Given the description of an element on the screen output the (x, y) to click on. 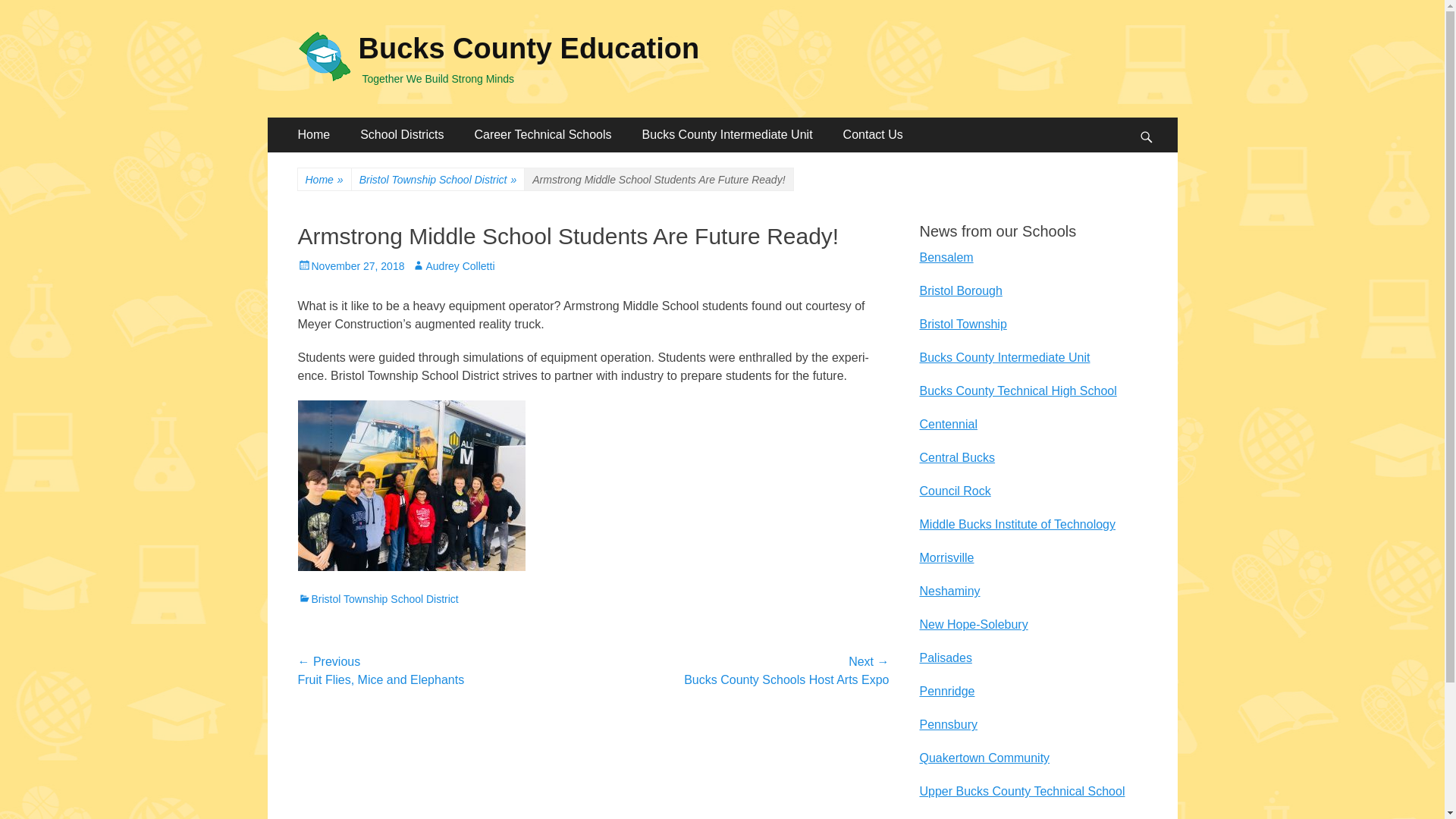
Centennial (947, 423)
New Hope-Solebury (972, 624)
Bucks County Technical High School (1017, 390)
School Districts (401, 134)
Audrey Colletti (453, 265)
Upper Bucks County Technical School (1021, 790)
Bristol Borough (959, 290)
Middle Bucks Institute of Technology (1016, 523)
Morrisville (946, 557)
Palisades (944, 657)
Bucks County Education (528, 48)
Pennsbury (947, 724)
Council Rock (954, 490)
Career Technical Schools (542, 134)
